Given the description of an element on the screen output the (x, y) to click on. 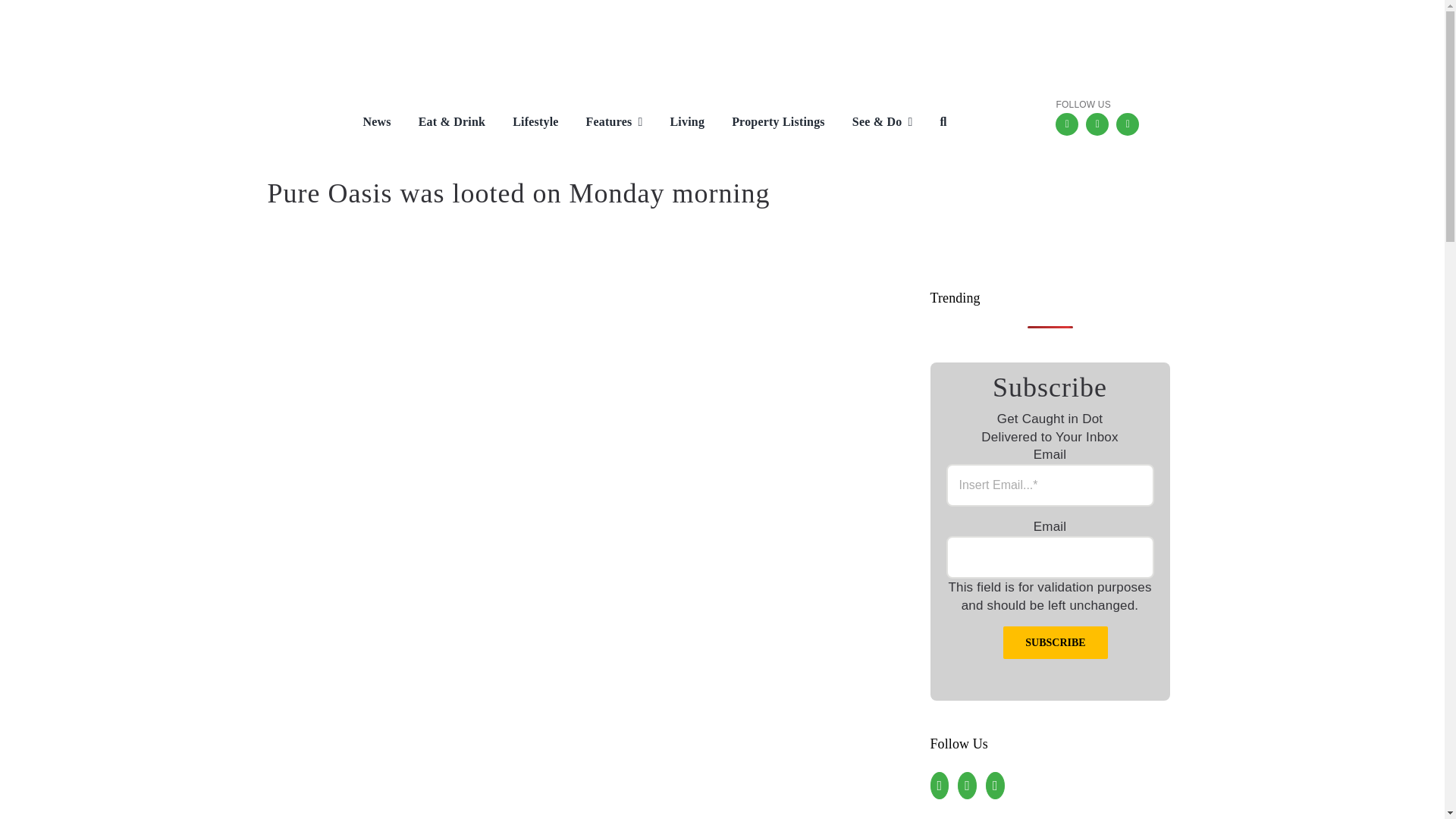
Living (675, 122)
Features (603, 122)
Facebook (1066, 124)
Instagram (1097, 124)
X (1127, 124)
Property Listings (767, 122)
Lifestyle (523, 122)
Subscribe (1054, 642)
News (364, 122)
